Given the description of an element on the screen output the (x, y) to click on. 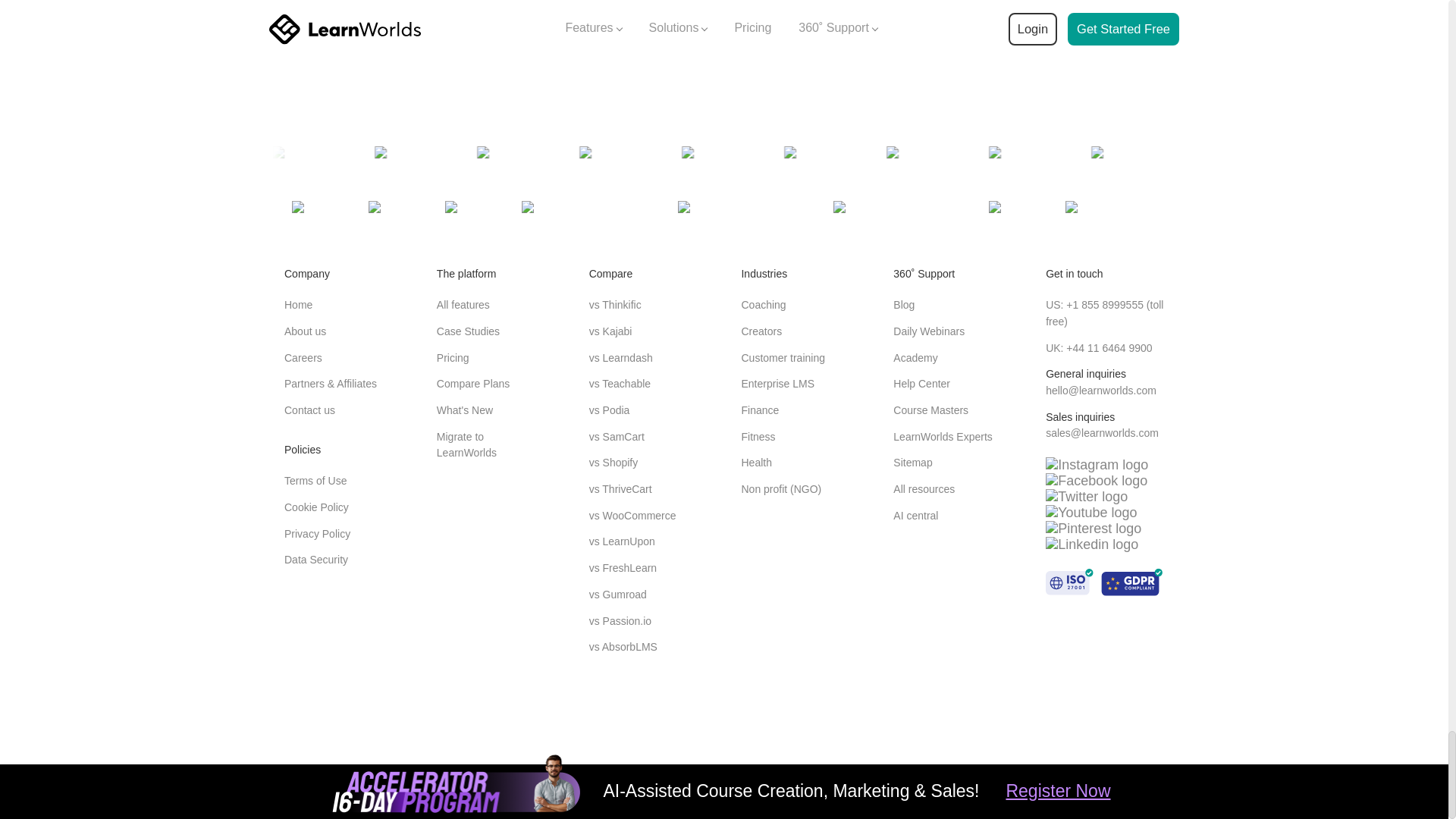
send email to LearnWorlds (1100, 390)
send email to LearnWorlds (1101, 432)
